Given the description of an element on the screen output the (x, y) to click on. 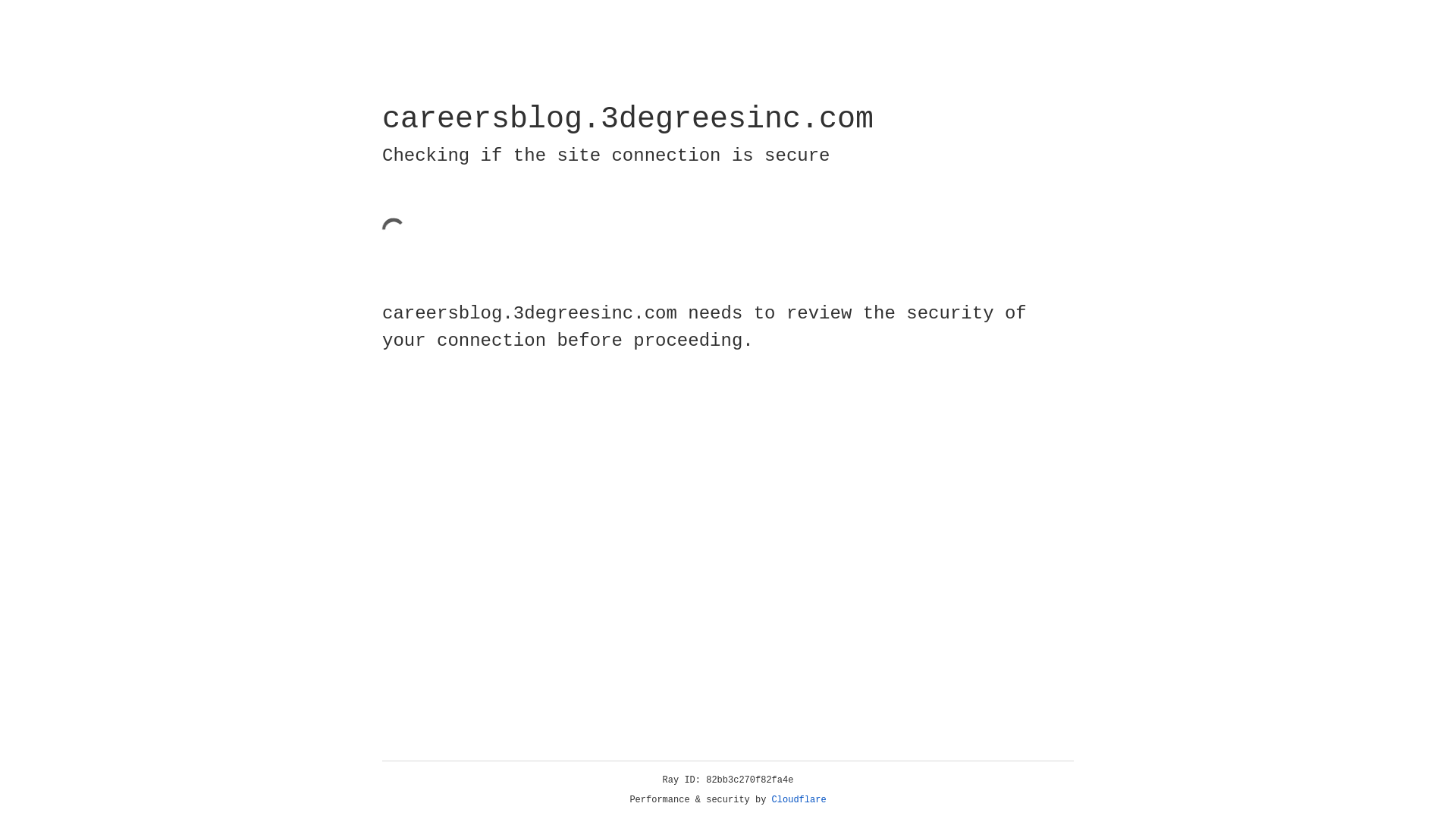
Cloudflare Element type: text (798, 799)
